Given the description of an element on the screen output the (x, y) to click on. 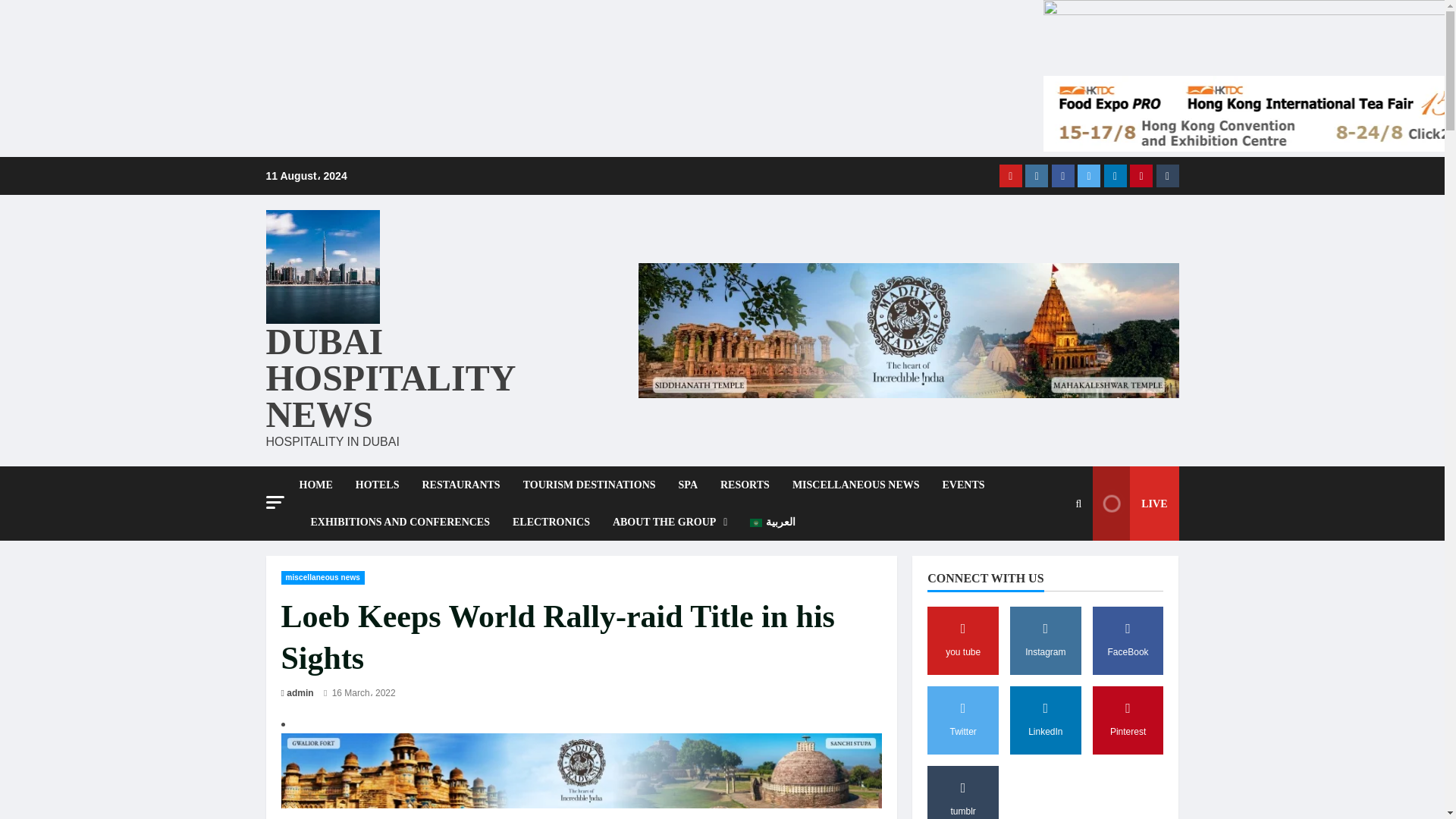
Instagram (1036, 175)
Pinterest (1141, 175)
tumblr (1166, 175)
DUBAI HOSPITALITY NEWS (388, 377)
Twitter (1088, 175)
FaceBook (1062, 175)
LinkedIn (1114, 175)
you tube (1010, 175)
